Given the description of an element on the screen output the (x, y) to click on. 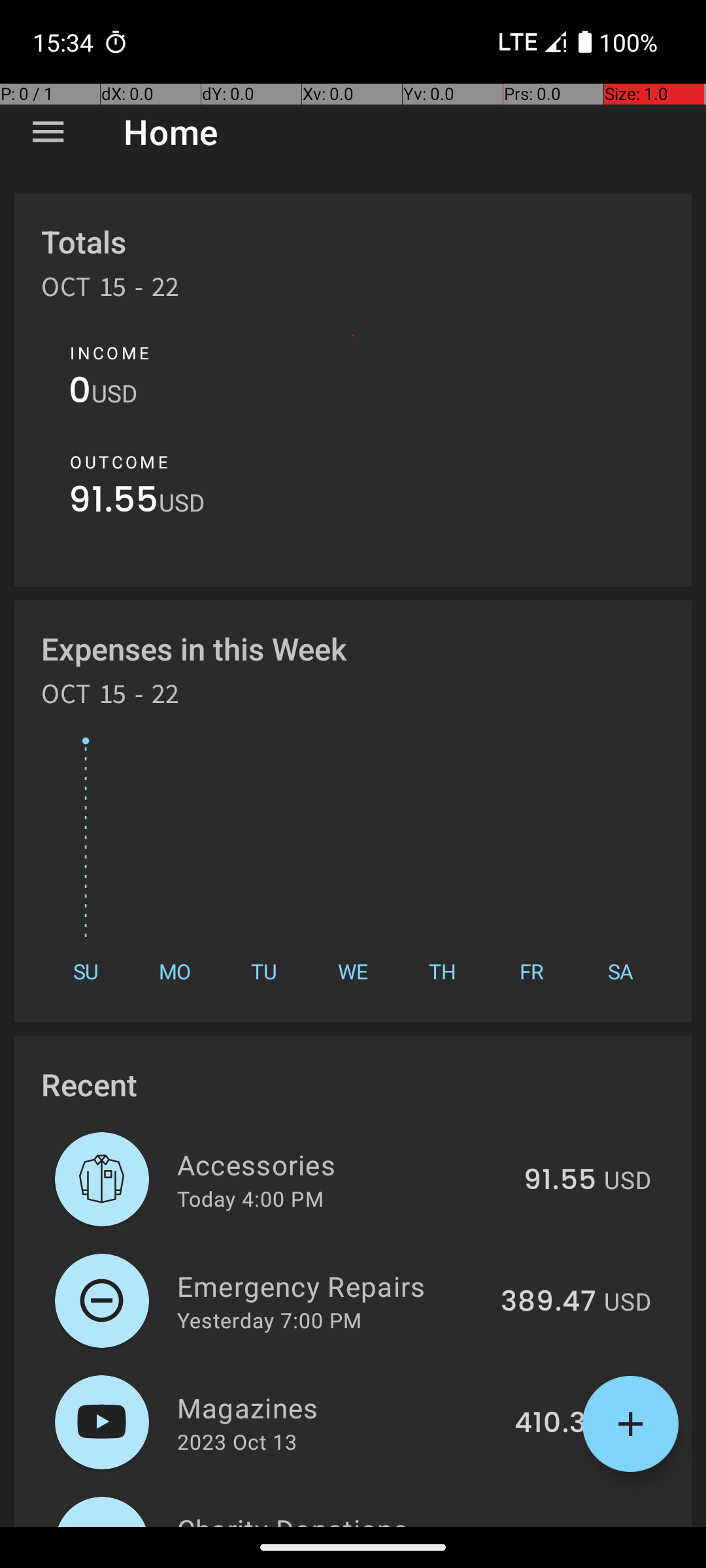
91.55 Element type: android.widget.TextView (113, 502)
Accessories Element type: android.widget.TextView (342, 1164)
Today 4:00 PM Element type: android.widget.TextView (250, 1198)
Emergency Repairs Element type: android.widget.TextView (331, 1285)
Yesterday 7:00 PM Element type: android.widget.TextView (269, 1320)
389.47 Element type: android.widget.TextView (548, 1301)
Magazines Element type: android.widget.TextView (338, 1407)
410.31 Element type: android.widget.TextView (554, 1423)
Charity Donations Element type: android.widget.TextView (337, 1518)
491.16 Element type: android.widget.TextView (554, 1524)
